Given the description of an element on the screen output the (x, y) to click on. 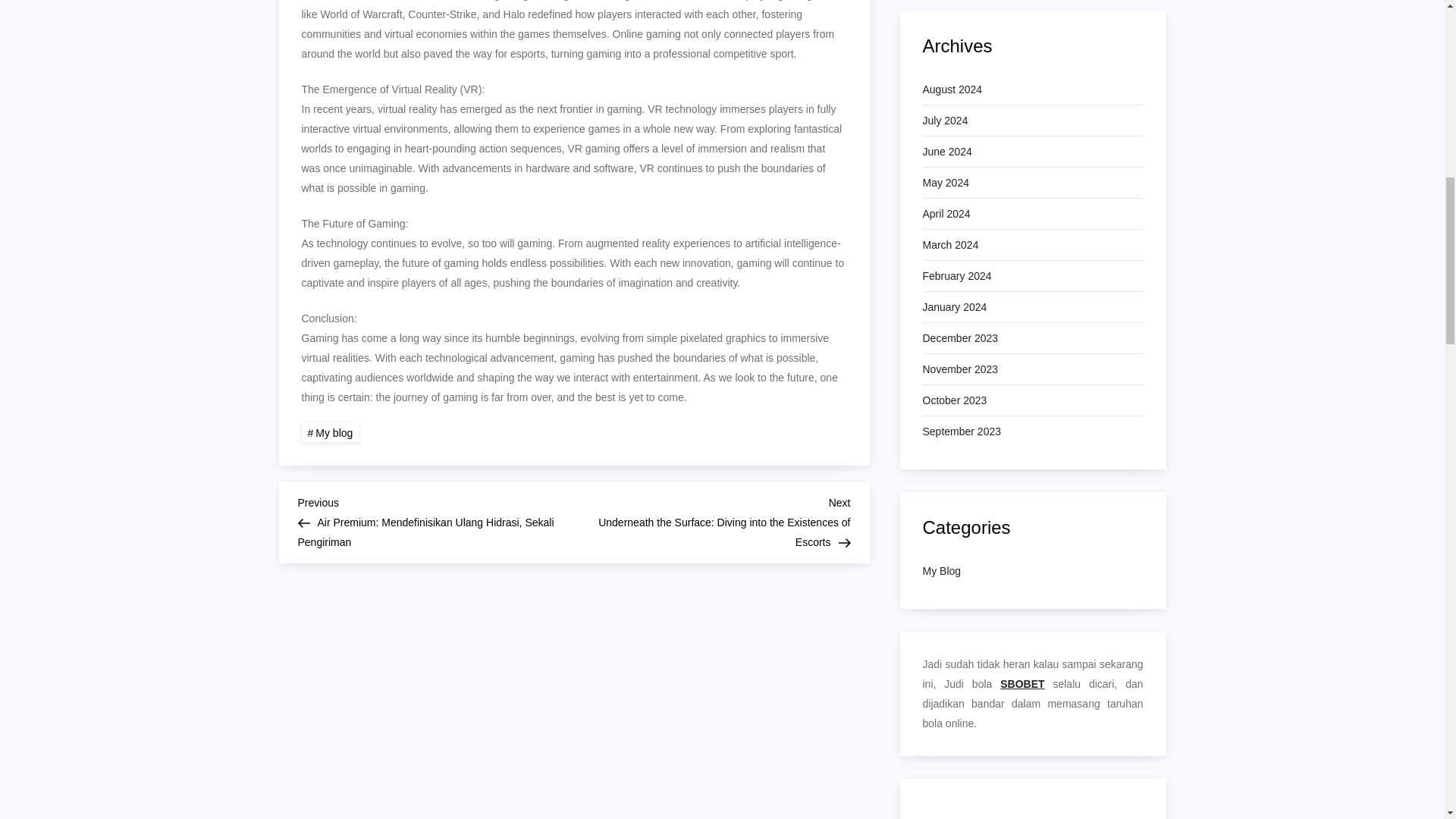
December 2023 (959, 338)
June 2024 (946, 151)
March 2024 (949, 244)
My blog (330, 432)
February 2024 (956, 275)
July 2024 (944, 120)
November 2023 (959, 369)
May 2024 (944, 182)
August 2024 (951, 89)
January 2024 (954, 306)
October 2023 (954, 400)
SBOBET (1021, 684)
September 2023 (961, 431)
